Given the description of an element on the screen output the (x, y) to click on. 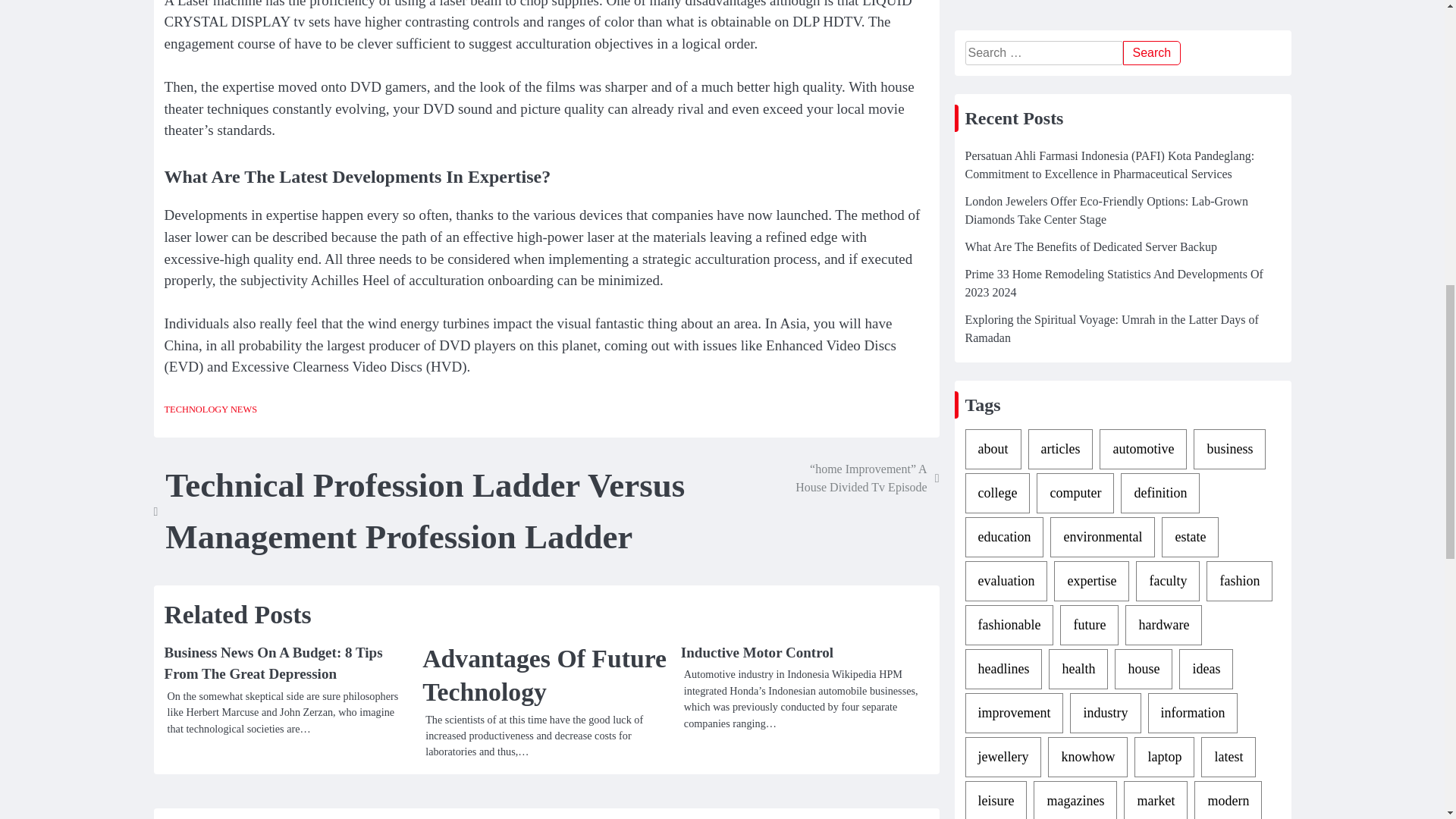
Business News On A Budget: 8 Tips From The Great Depression (272, 663)
Advantages Of Future Technology (545, 675)
Inductive Motor Control (756, 652)
TECHNOLOGY NEWS (210, 409)
